Given the description of an element on the screen output the (x, y) to click on. 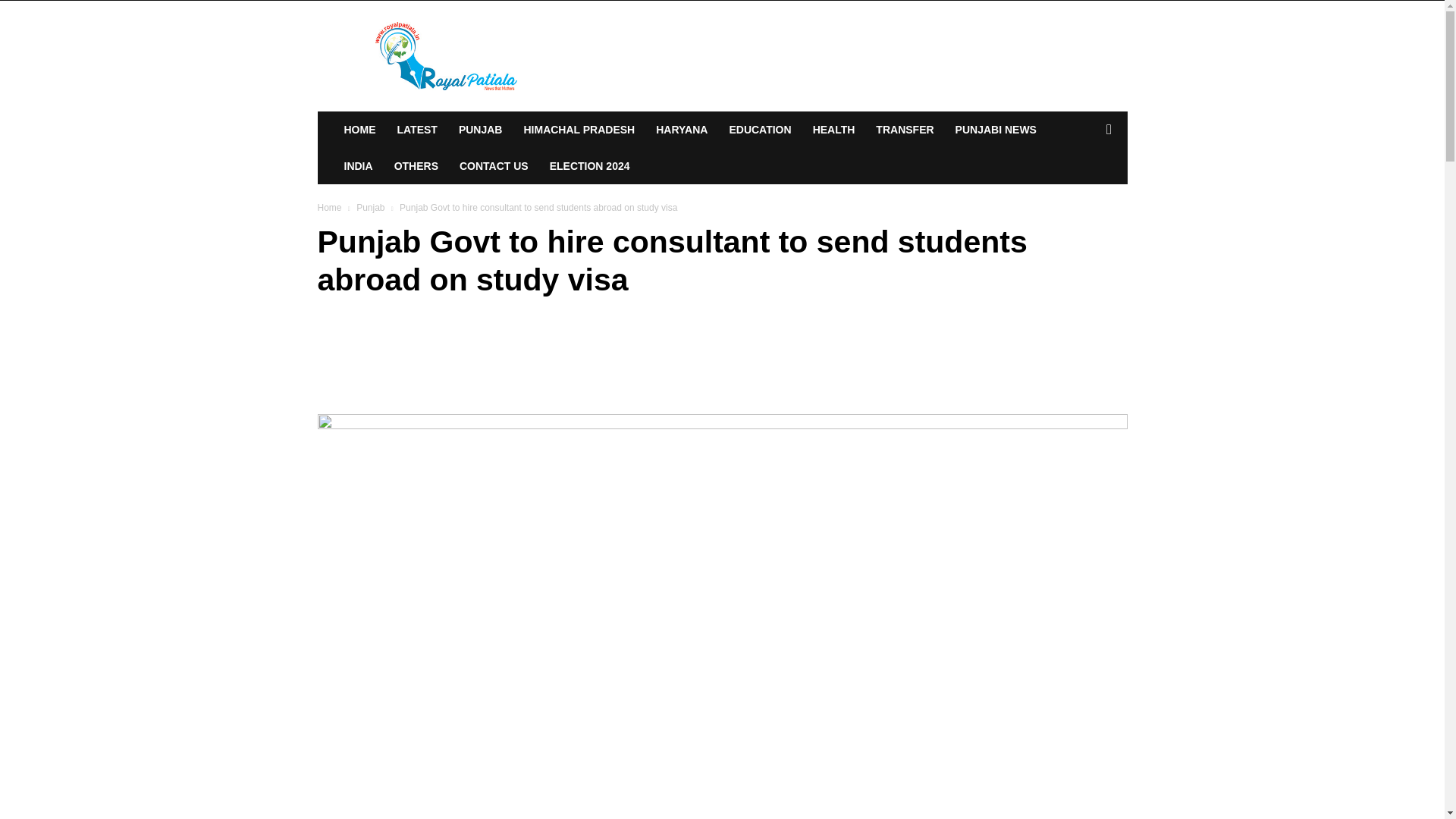
topFacebookLike (430, 336)
INDIA (358, 166)
HARYANA (681, 129)
OTHERS (416, 166)
EDUCATION (759, 129)
Home (328, 207)
HIMACHAL PRADESH (578, 129)
ELECTION 2024 (589, 166)
PUNJABI NEWS (995, 129)
Search (1085, 190)
